Given the description of an element on the screen output the (x, y) to click on. 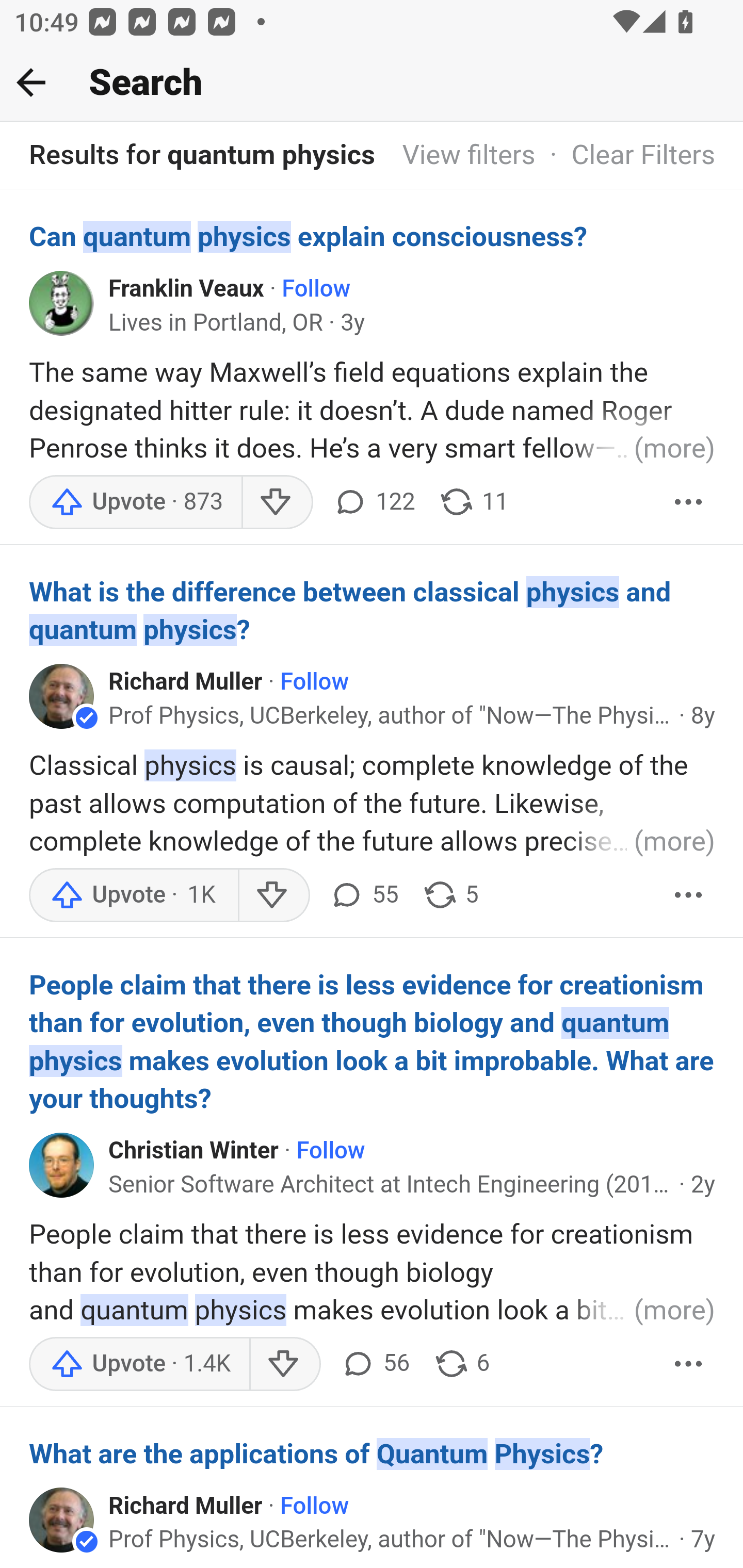
Back Search (371, 82)
Back (30, 82)
View filters (468, 155)
· Clear Filters · Clear Filters (625, 155)
Can quantum physics explain consciousness? (372, 236)
Profile photo for Franklin Veaux (61, 302)
Franklin Veaux (186, 289)
Follow (316, 289)
3y 3 y (352, 322)
Upvote (135, 501)
Downvote (277, 501)
122 comments (373, 501)
11 shares (473, 501)
More (688, 501)
Richard Muller (185, 681)
Follow (314, 681)
8y 8 y (702, 714)
Upvote (133, 895)
Downvote (273, 895)
55 comments (363, 895)
5 shares (449, 895)
More (688, 895)
Profile photo for Christian Winter (61, 1163)
Christian Winter (193, 1150)
Follow (331, 1150)
2y 2 y (702, 1184)
Upvote (138, 1363)
Downvote (283, 1363)
56 comments (374, 1363)
6 shares (460, 1363)
More (688, 1363)
What are the applications of Quantum Physics? (372, 1453)
Richard Muller (185, 1506)
Follow (314, 1506)
7y 7 y (702, 1540)
